Given the description of an element on the screen output the (x, y) to click on. 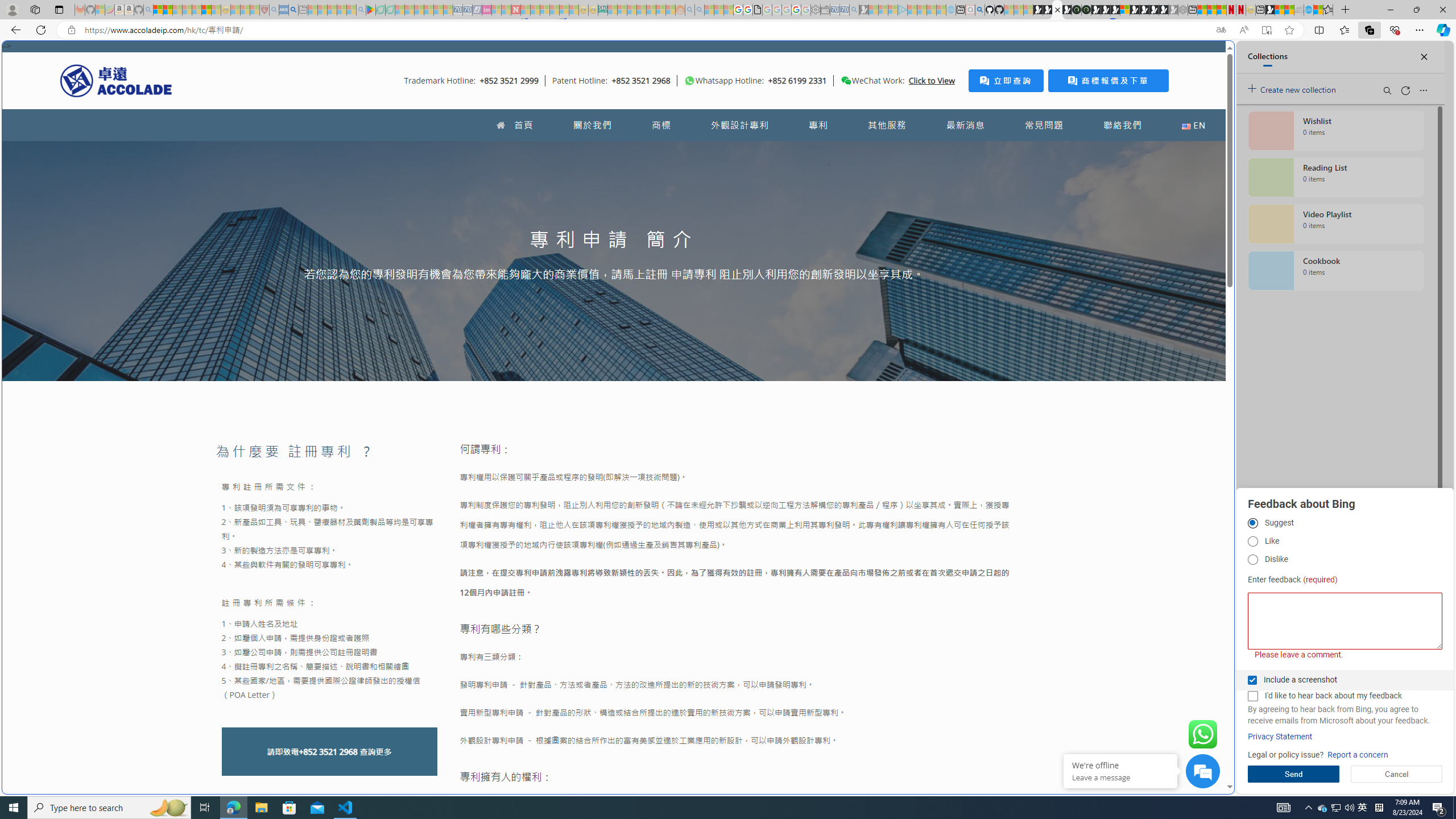
New Report Confirms 2023 Was Record Hot | Watch - Sleeping (196, 9)
